Given the description of an element on the screen output the (x, y) to click on. 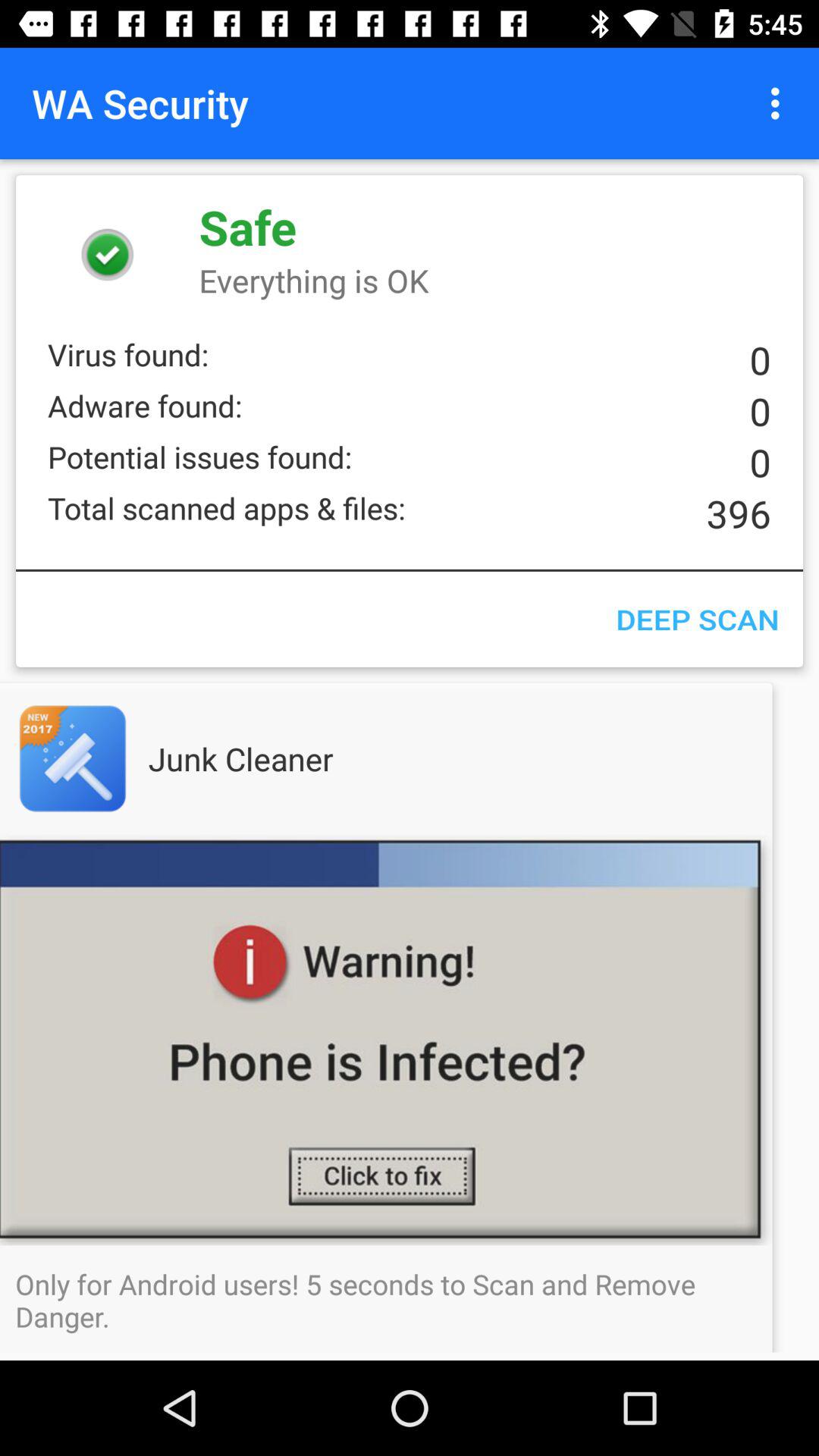
click to open junk cleaner (409, 1039)
